Given the description of an element on the screen output the (x, y) to click on. 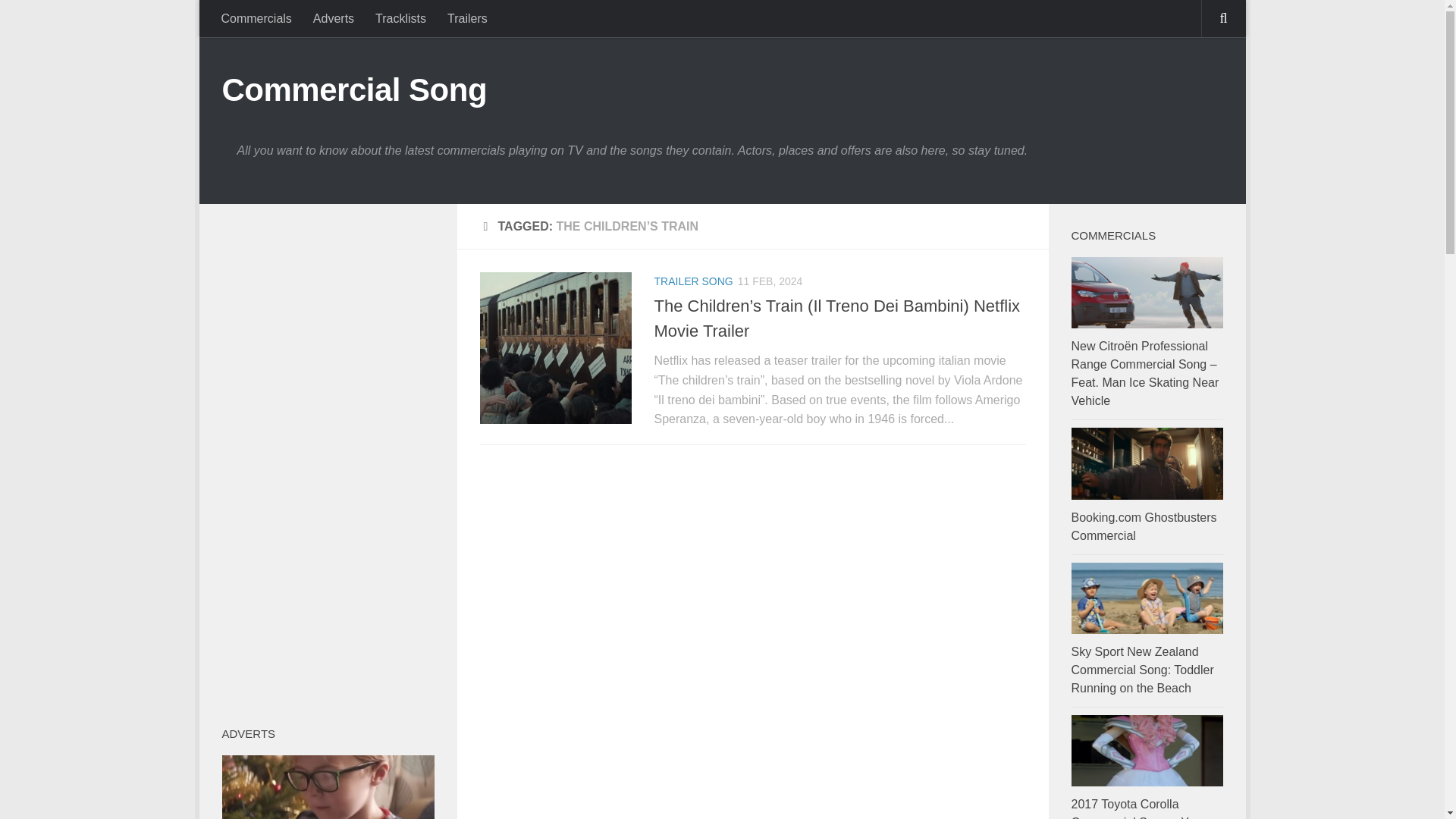
Booking.com Ghostbusters Commercial (1142, 526)
Trailers (466, 18)
Commercial Song (353, 90)
TRAILER SONG (692, 281)
Adverts (333, 18)
Commercials (256, 18)
Advertisement (752, 748)
Tracklists (400, 18)
Advertisement (751, 566)
